Given the description of an element on the screen output the (x, y) to click on. 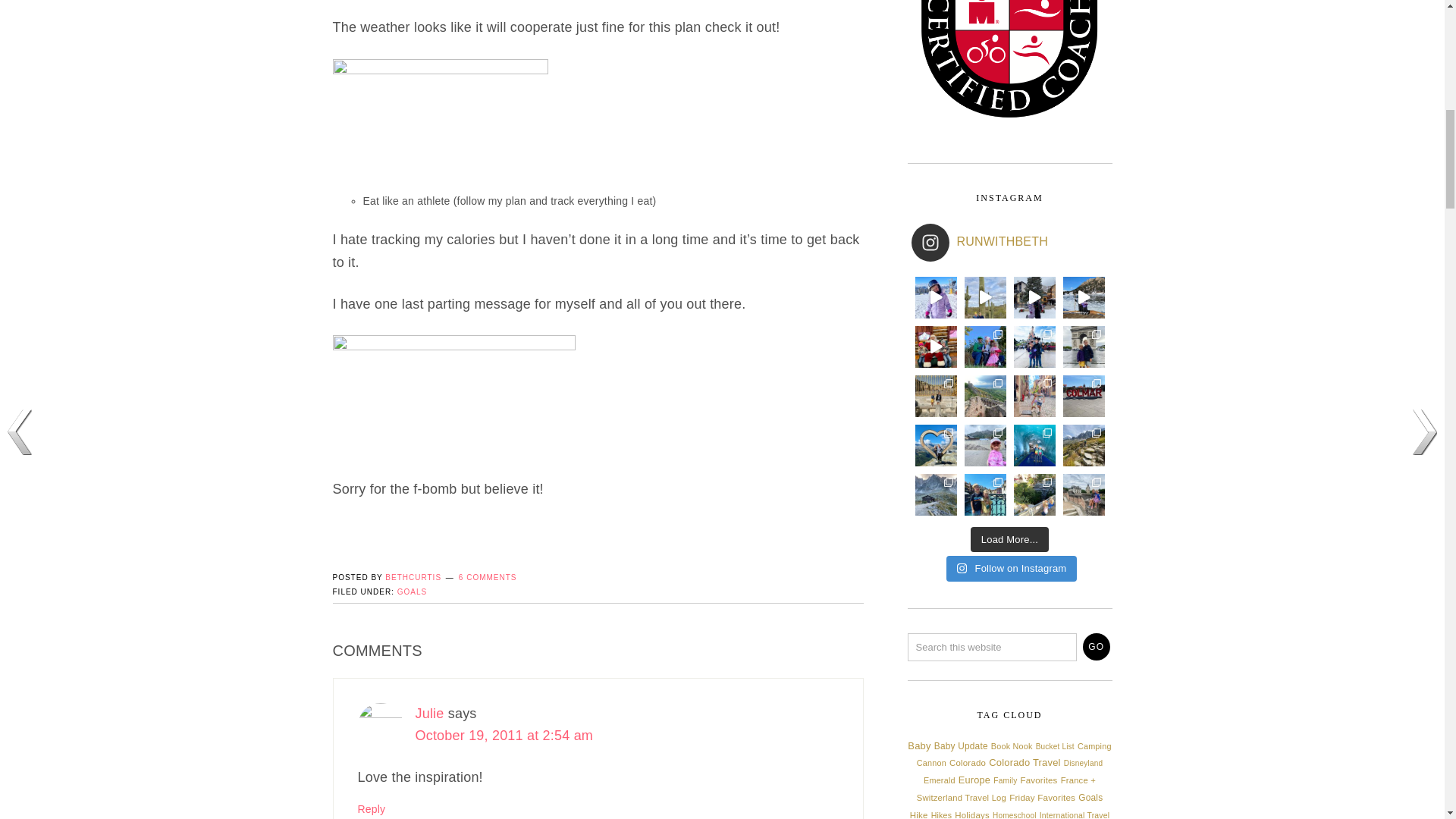
18 topics (918, 745)
4 topics (1083, 763)
8 topics (931, 762)
18 topics (1023, 762)
GO (1096, 646)
GO (1096, 646)
GOALS (411, 592)
8 topics (1094, 746)
6 COMMENTS (487, 577)
8 topics (1011, 746)
Julie (429, 713)
4 topics (1054, 746)
October 19, 2011 at 2:54 am (504, 735)
11 topics (967, 762)
13 topics (961, 746)
